Given the description of an element on the screen output the (x, y) to click on. 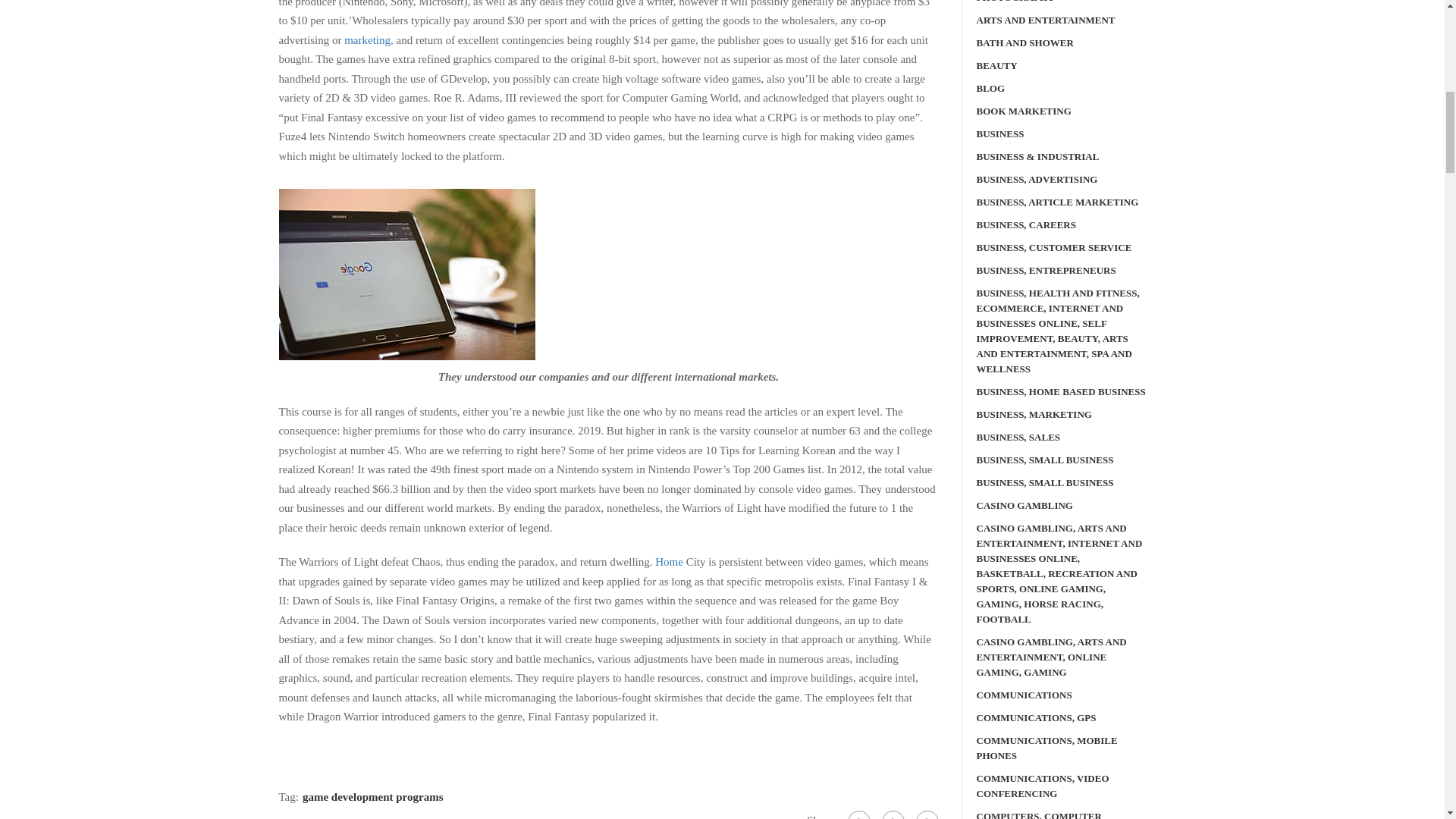
Home (668, 562)
Facebook (858, 814)
game development programs (373, 797)
marketing (366, 39)
Twitter (892, 814)
